Given the description of an element on the screen output the (x, y) to click on. 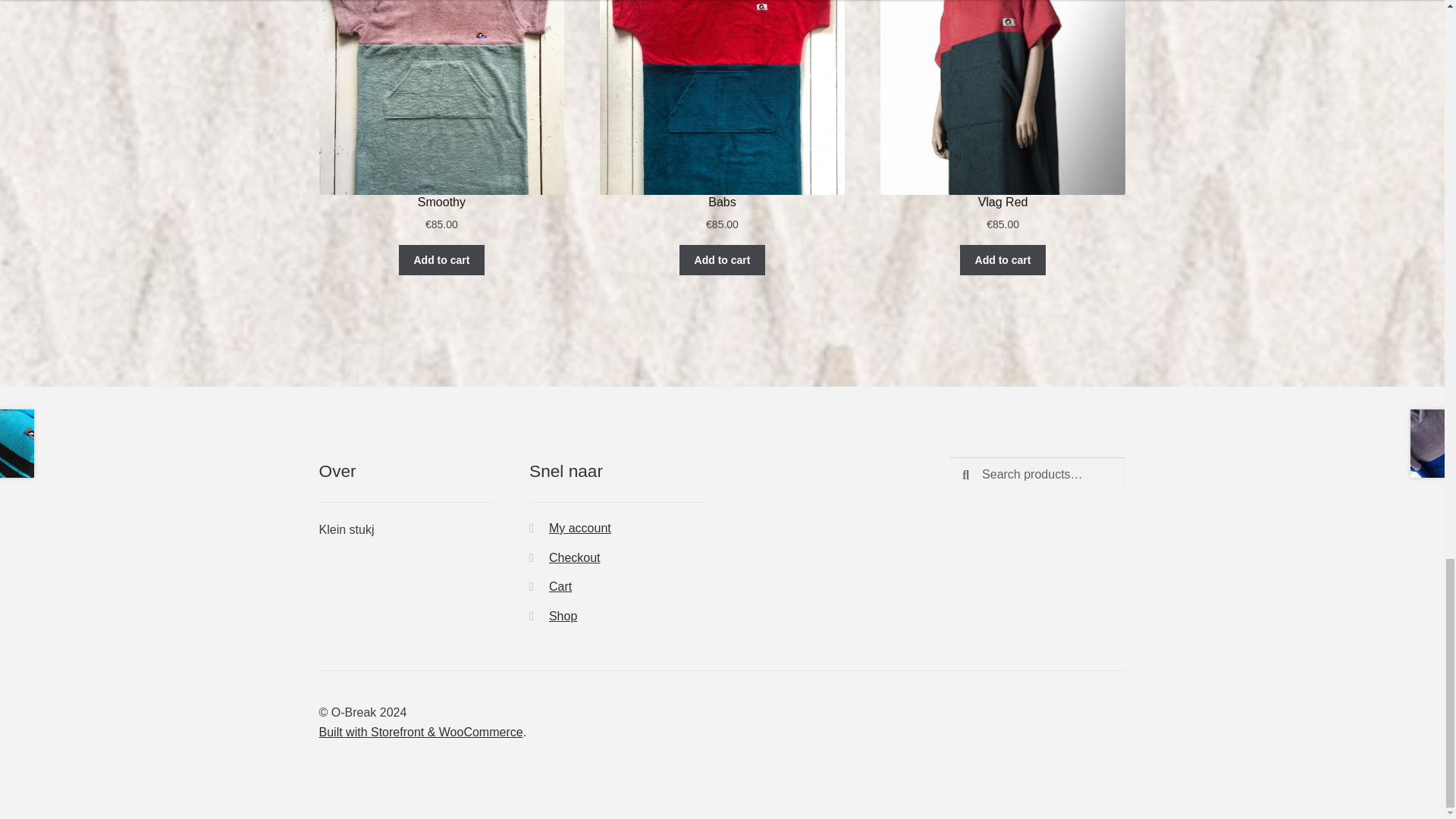
WooCommerce - The Best eCommerce Platform for WordPress (420, 731)
Add to cart (1002, 259)
Add to cart (722, 259)
Add to cart (441, 259)
